Given the description of an element on the screen output the (x, y) to click on. 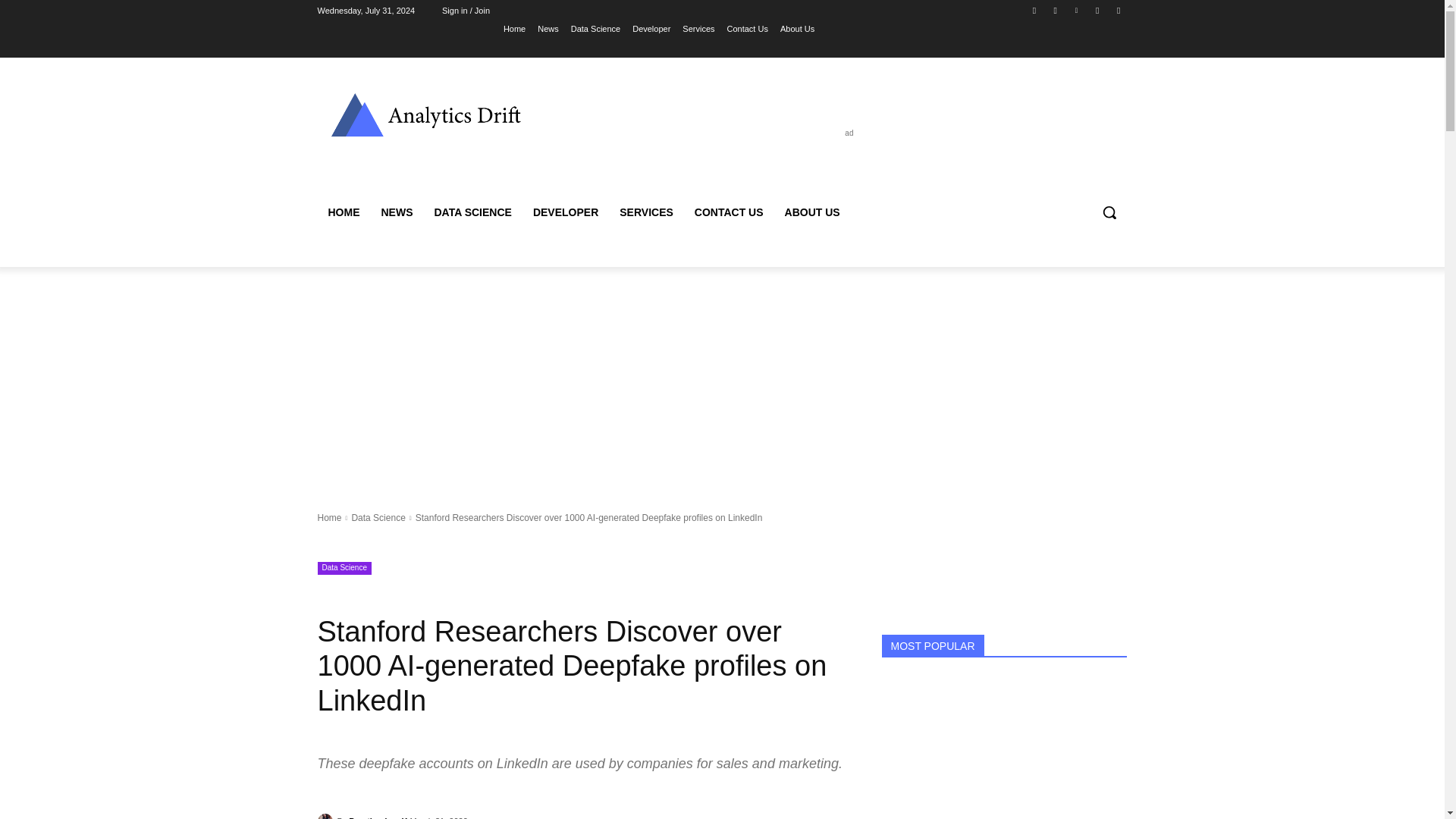
Twitter (1117, 9)
Telegram (1097, 9)
Data Science (344, 567)
Instagram (1055, 9)
Preetipadma K (378, 814)
CONTACT US (729, 212)
Services (698, 28)
News (548, 28)
View all posts in Data Science (377, 517)
NEWS (396, 212)
ABOUT US (812, 212)
Developer (650, 28)
DATA SCIENCE (472, 212)
Data Science (595, 28)
Home (514, 28)
